Given the description of an element on the screen output the (x, y) to click on. 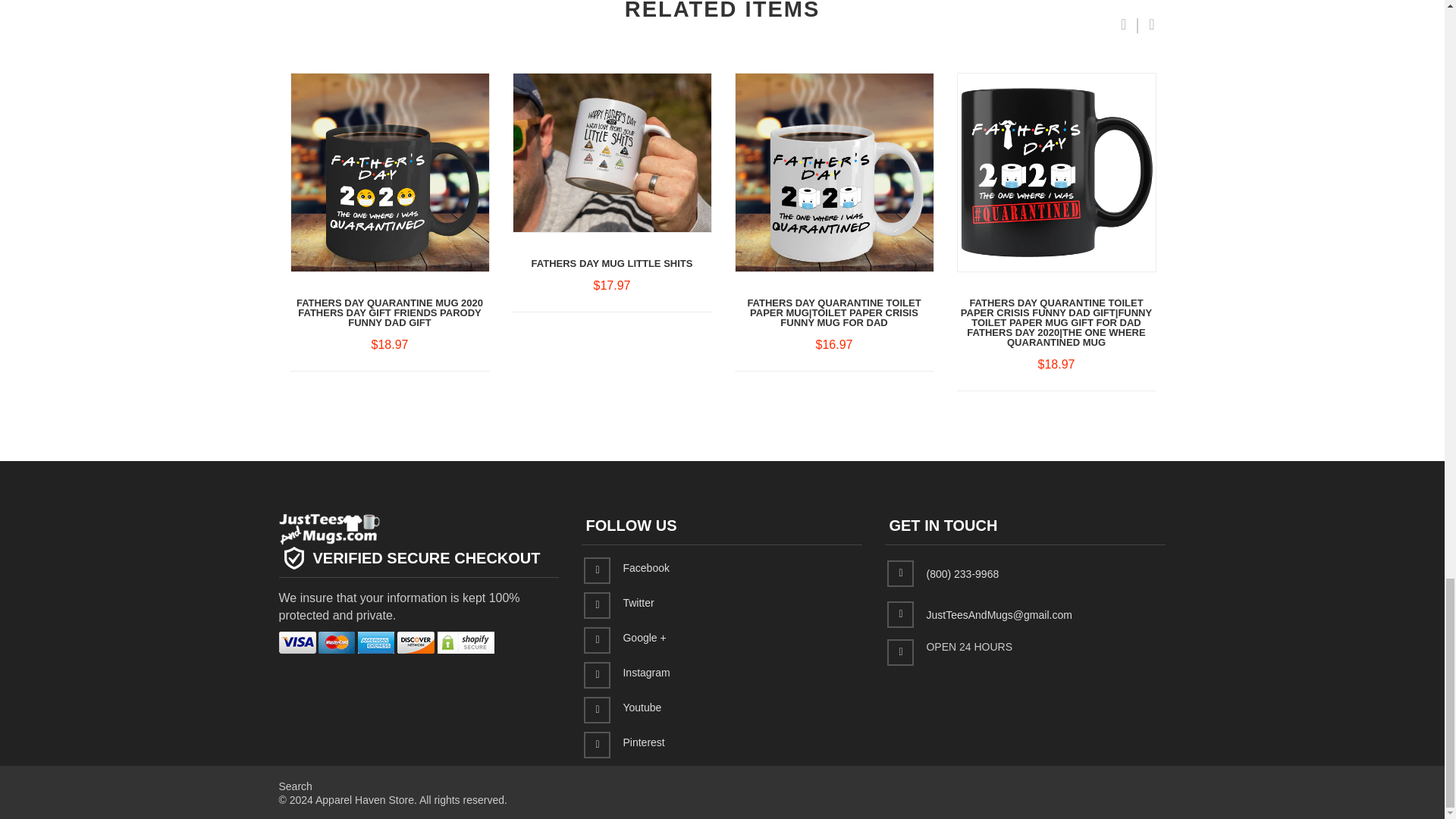
Apparel Haven Store on Facebook (645, 567)
Apparel Haven Store on Instagram (646, 672)
Apparel Haven Store on Twitter (638, 603)
Apparel Haven Store on Youtube (642, 707)
Apparel Haven Store on Pinterest (643, 742)
